Given the description of an element on the screen output the (x, y) to click on. 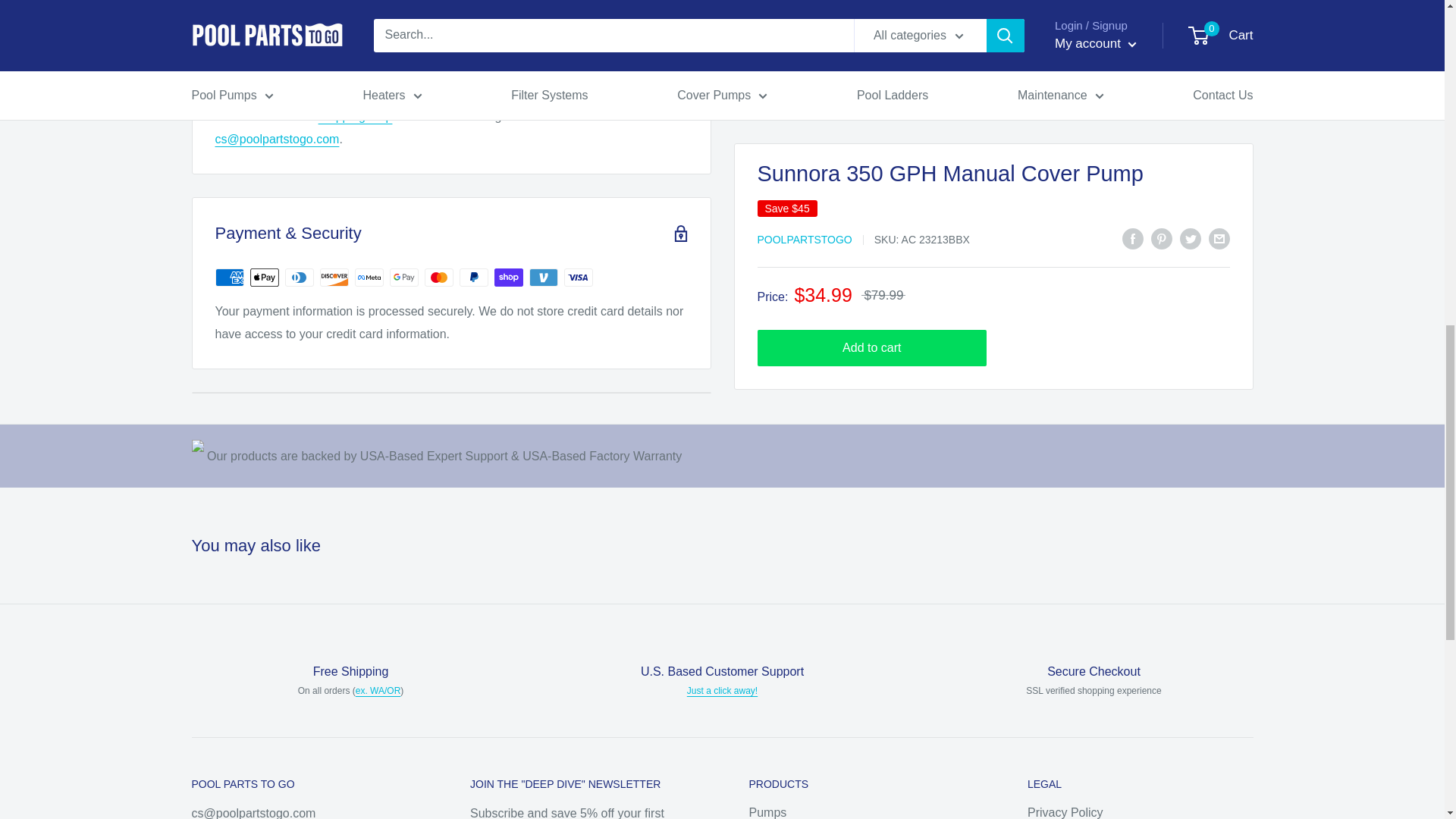
Contact Us (722, 690)
Shipping Policy (378, 690)
